Given the description of an element on the screen output the (x, y) to click on. 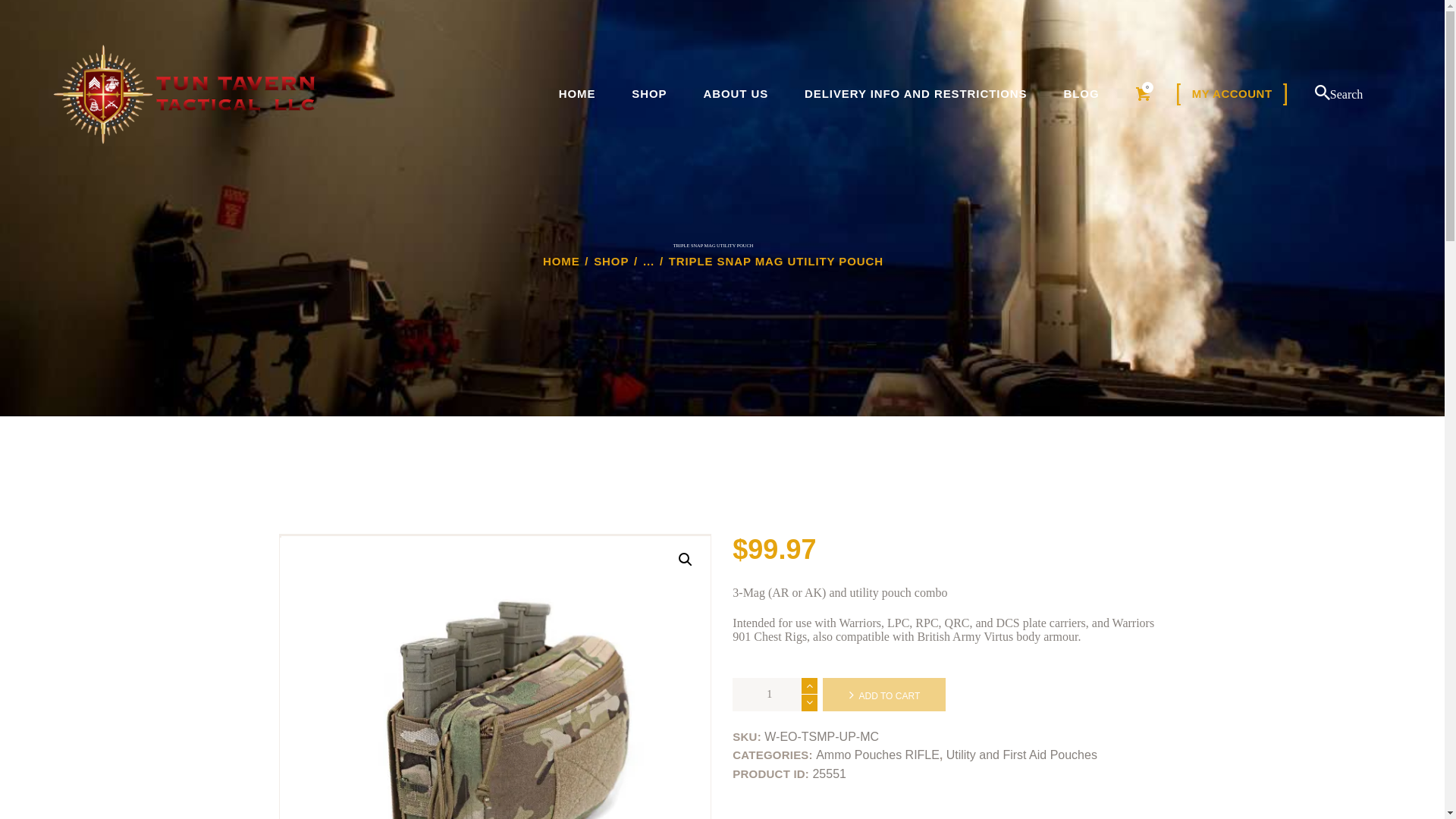
DELIVERY INFO AND RESTRICTIONS (915, 94)
SHOP (648, 94)
MY ACCOUNT (1232, 94)
HOME (577, 94)
1 (774, 694)
BLOG (1081, 94)
ABOUT US (735, 94)
W-EO-TSMP-UP-MC (496, 677)
